Given the description of an element on the screen output the (x, y) to click on. 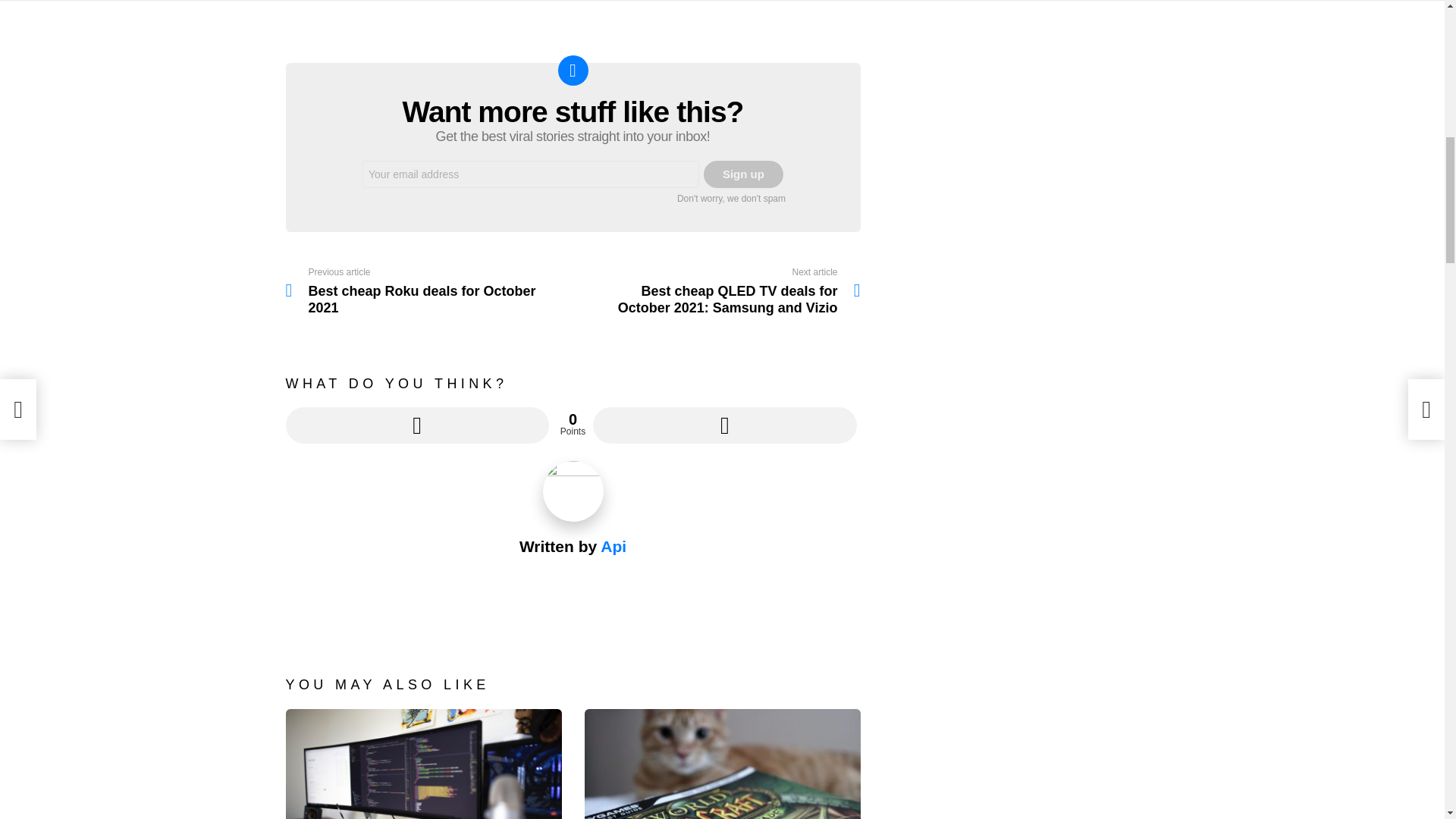
Sign up (743, 174)
Upvote (416, 425)
Api (612, 546)
Upvote (416, 425)
Downvote (724, 425)
Sign up (428, 291)
Downvote (743, 174)
